Given the description of an element on the screen output the (x, y) to click on. 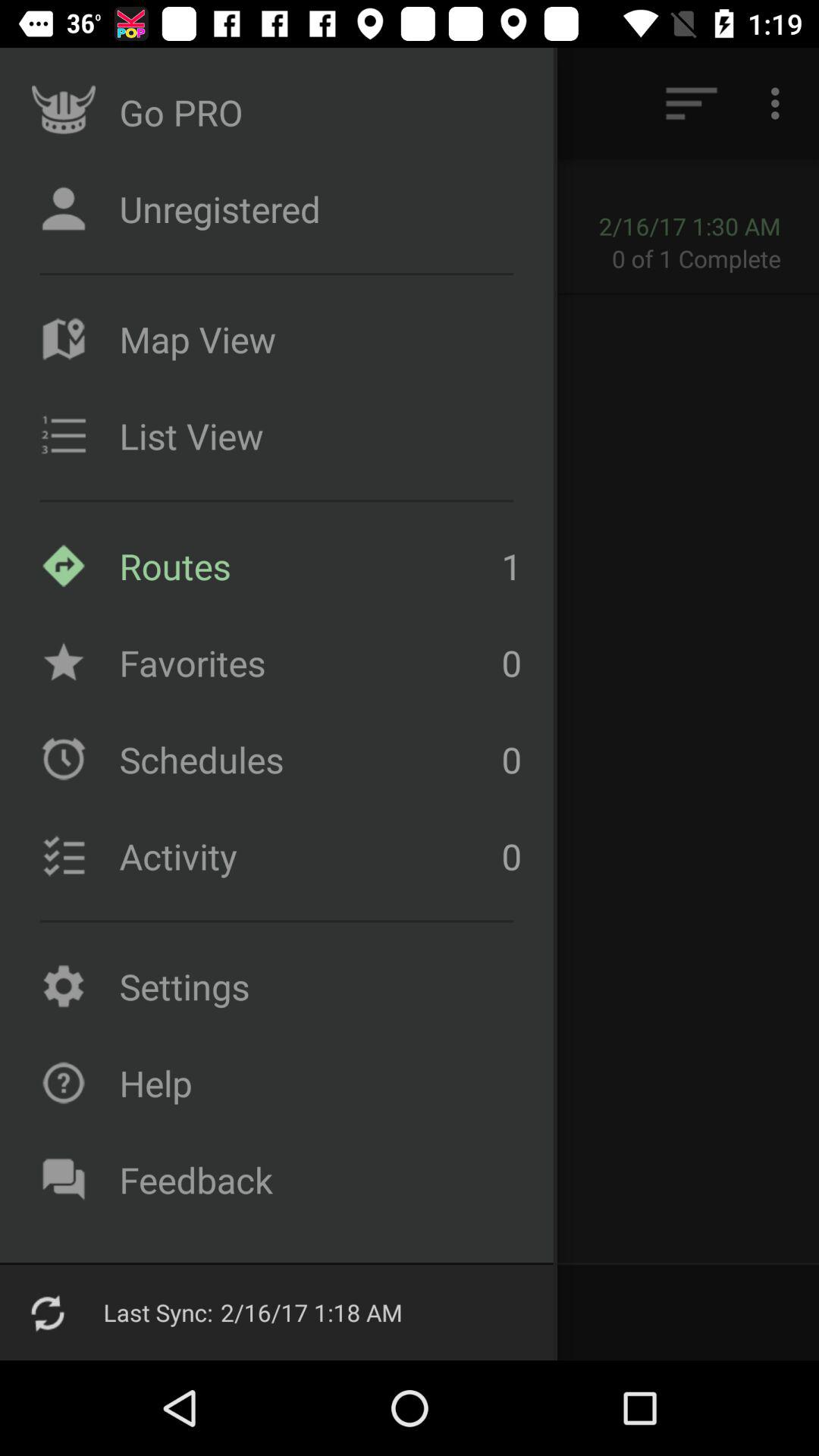
scroll until the help item (316, 1082)
